Given the description of an element on the screen output the (x, y) to click on. 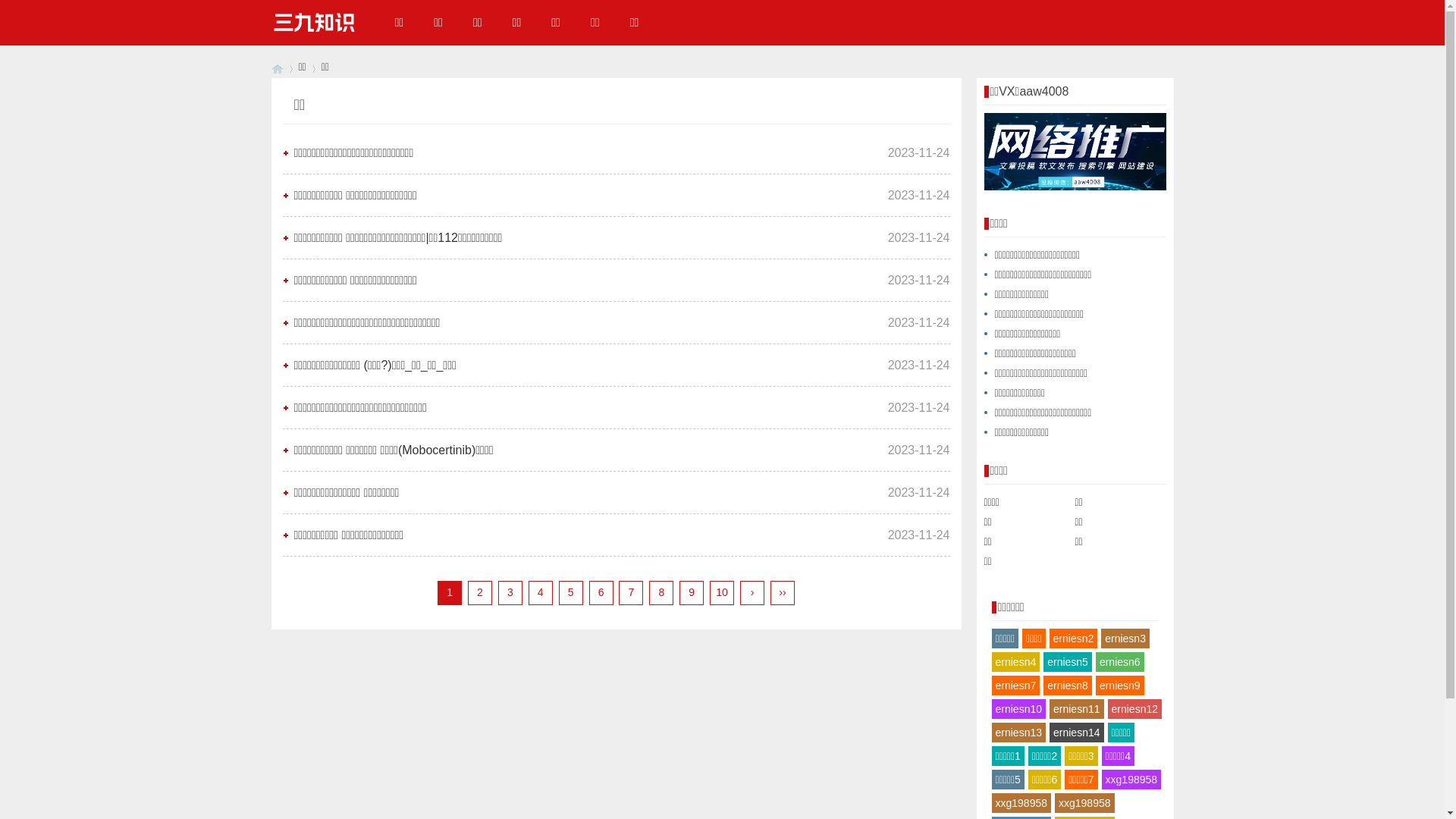
erniesn12 Element type: text (1134, 708)
erniesn8 Element type: text (1067, 685)
erniesn9 Element type: text (1119, 685)
3 Element type: text (510, 592)
xxg198958 Element type: text (1021, 802)
10 Element type: text (721, 592)
erniesn3 Element type: text (1125, 638)
5 Element type: text (570, 592)
xxg198958 Element type: text (1084, 802)
7 Element type: text (630, 592)
8 Element type: text (661, 592)
erniesn14 Element type: text (1076, 732)
erniesn4 Element type: text (1015, 661)
erniesn6 Element type: text (1119, 661)
erniesn11 Element type: text (1076, 708)
9 Element type: text (691, 592)
erniesn5 Element type: text (1067, 661)
erniesn7 Element type: text (1015, 685)
xxg198958 Element type: text (1131, 779)
erniesn10 Element type: text (1018, 708)
4 Element type: text (540, 592)
2 Element type: text (479, 592)
erniesn13 Element type: text (1018, 732)
erniesn2 Element type: text (1073, 638)
6 Element type: text (601, 592)
